Given the description of an element on the screen output the (x, y) to click on. 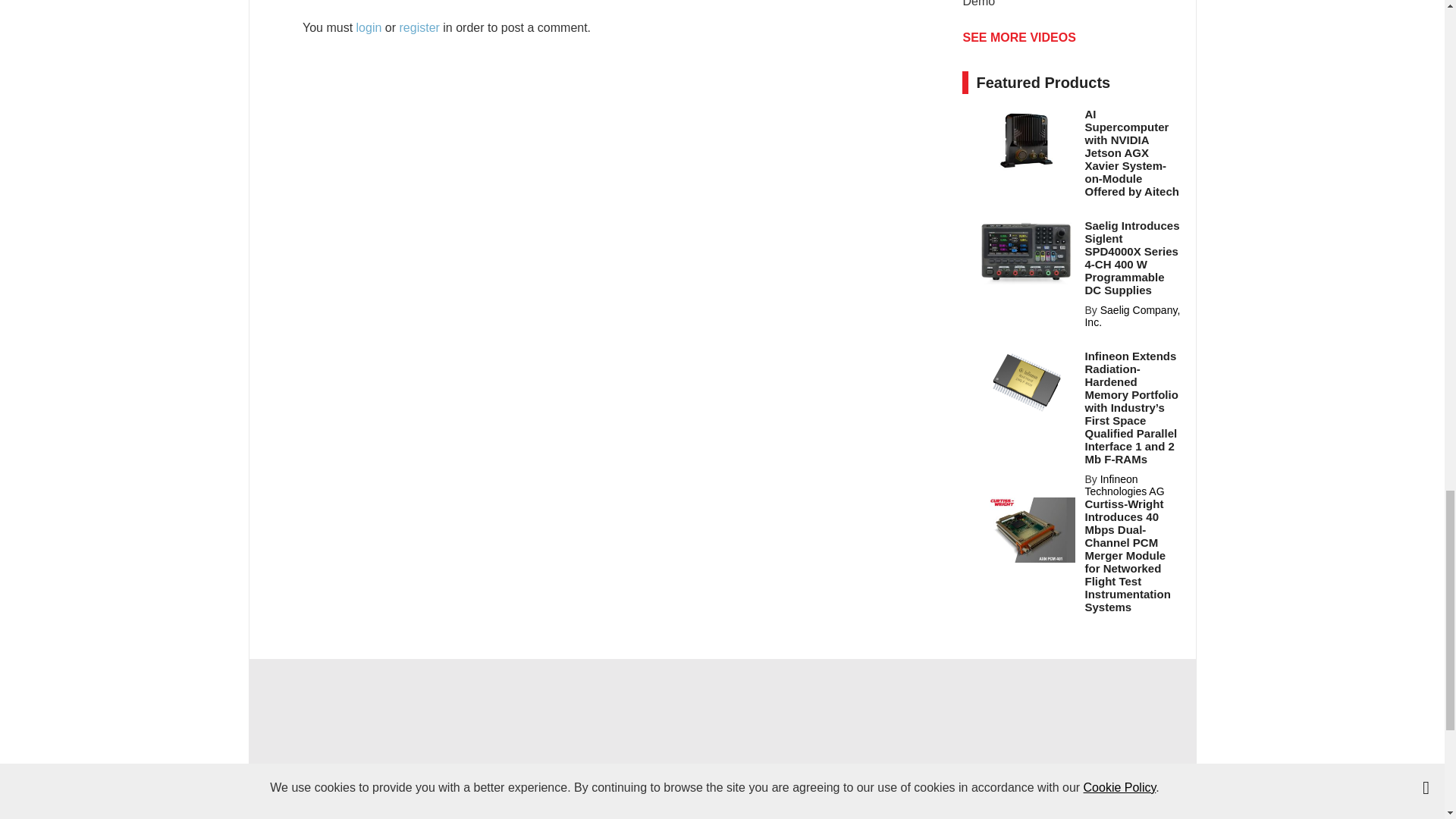
3rd party ad content (721, 712)
Infineon 6-19-24.png (1025, 381)
Curtiss-Wright AXN 6-11-24.jpg (1025, 529)
Siglent 7-1-24.jpg (1025, 251)
Aitech 7-8-24.jpg (1025, 139)
